Given the description of an element on the screen output the (x, y) to click on. 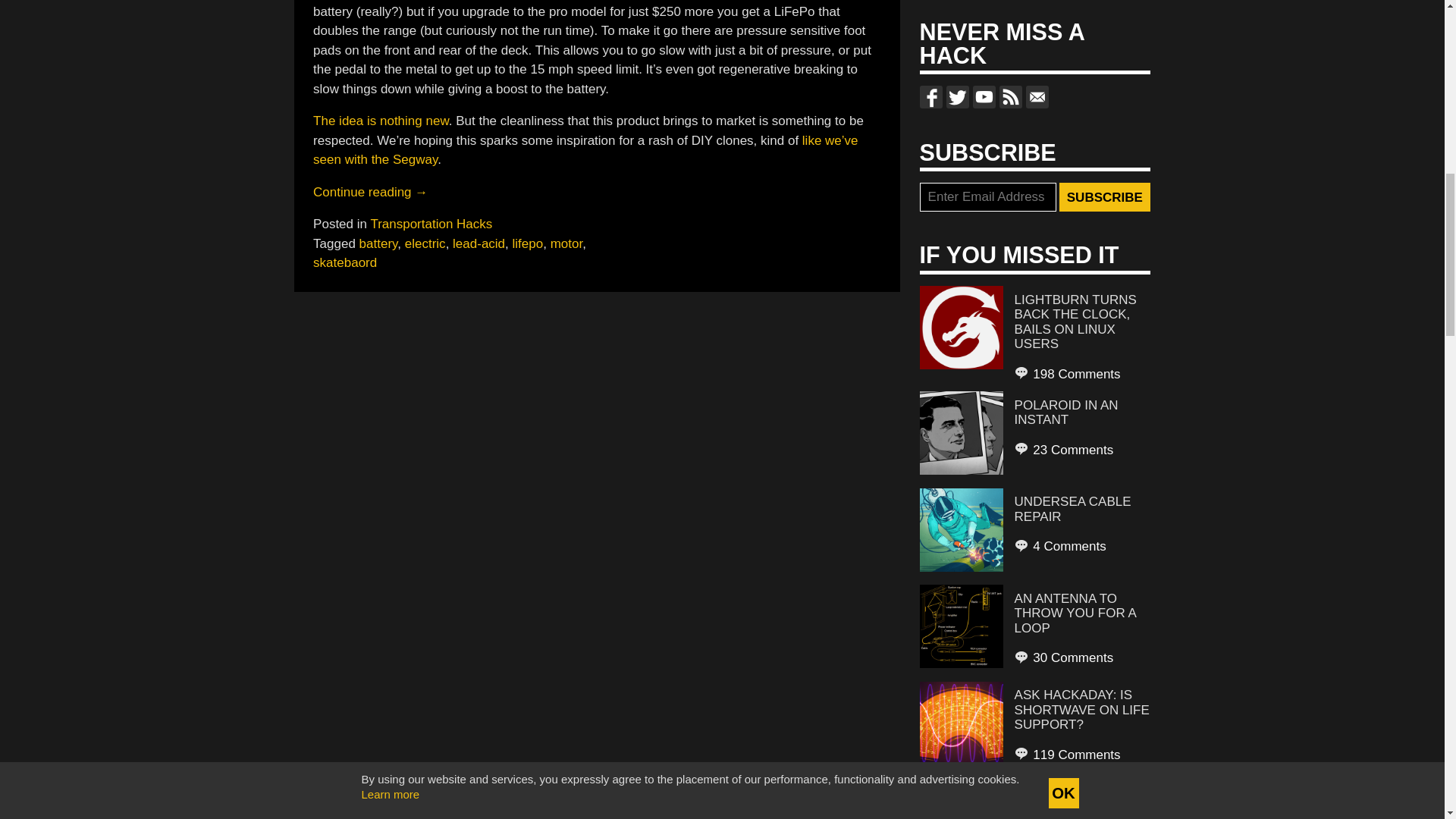
The idea is nothing new (380, 120)
lifepo (527, 243)
battery (378, 243)
electric (424, 243)
motor (566, 243)
Subscribe (1104, 196)
skatebaord (345, 262)
Transportation Hacks (430, 223)
lead-acid (478, 243)
